Given the description of an element on the screen output the (x, y) to click on. 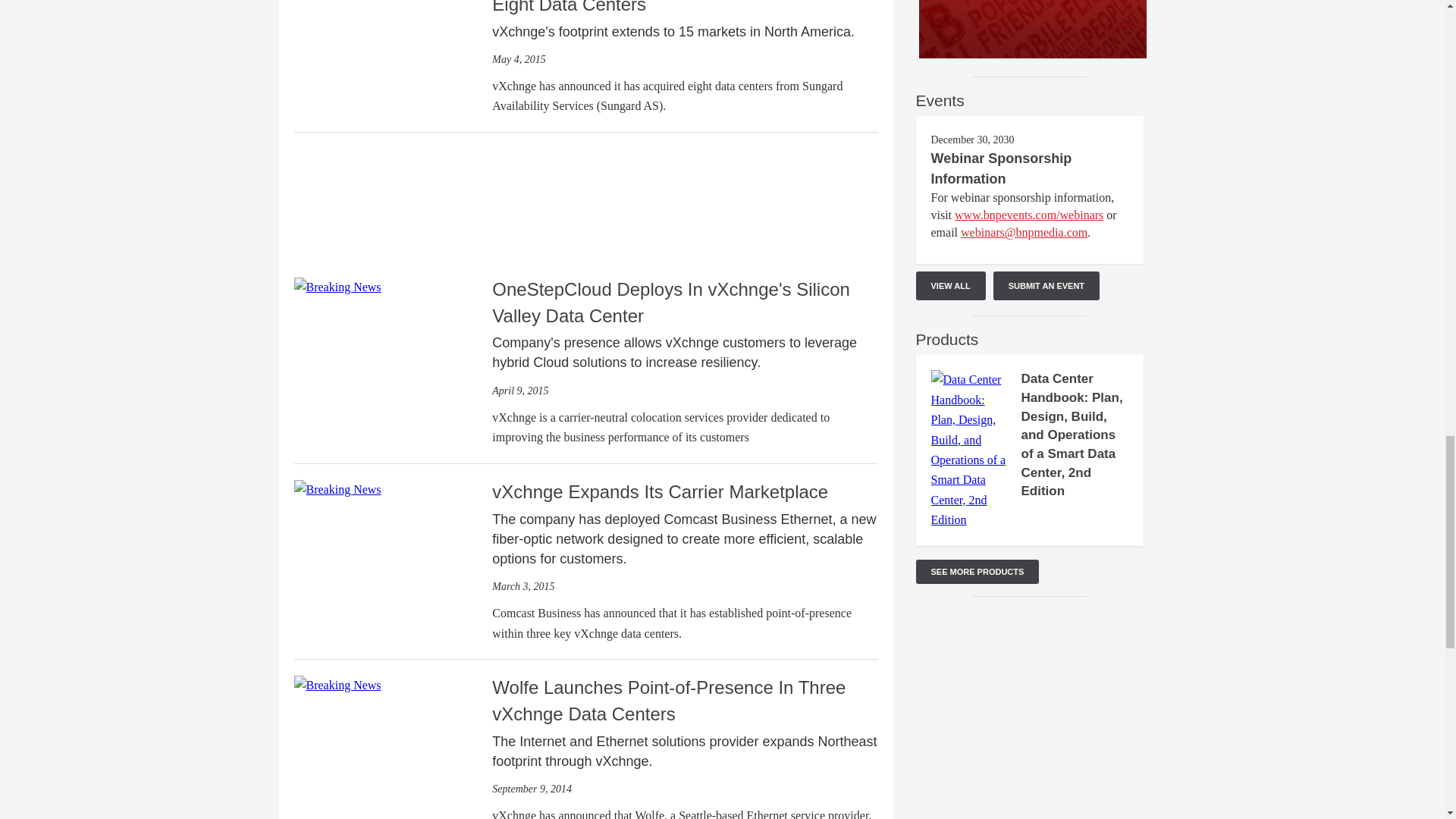
Breaking News (337, 287)
Breaking News (337, 489)
Breaking News (337, 685)
vXchnge Expands Its Carrier Marketplace  (337, 488)
OneStepCloud Deploys In vXchnge's Silicon Valley Data Center (337, 286)
